Given the description of an element on the screen output the (x, y) to click on. 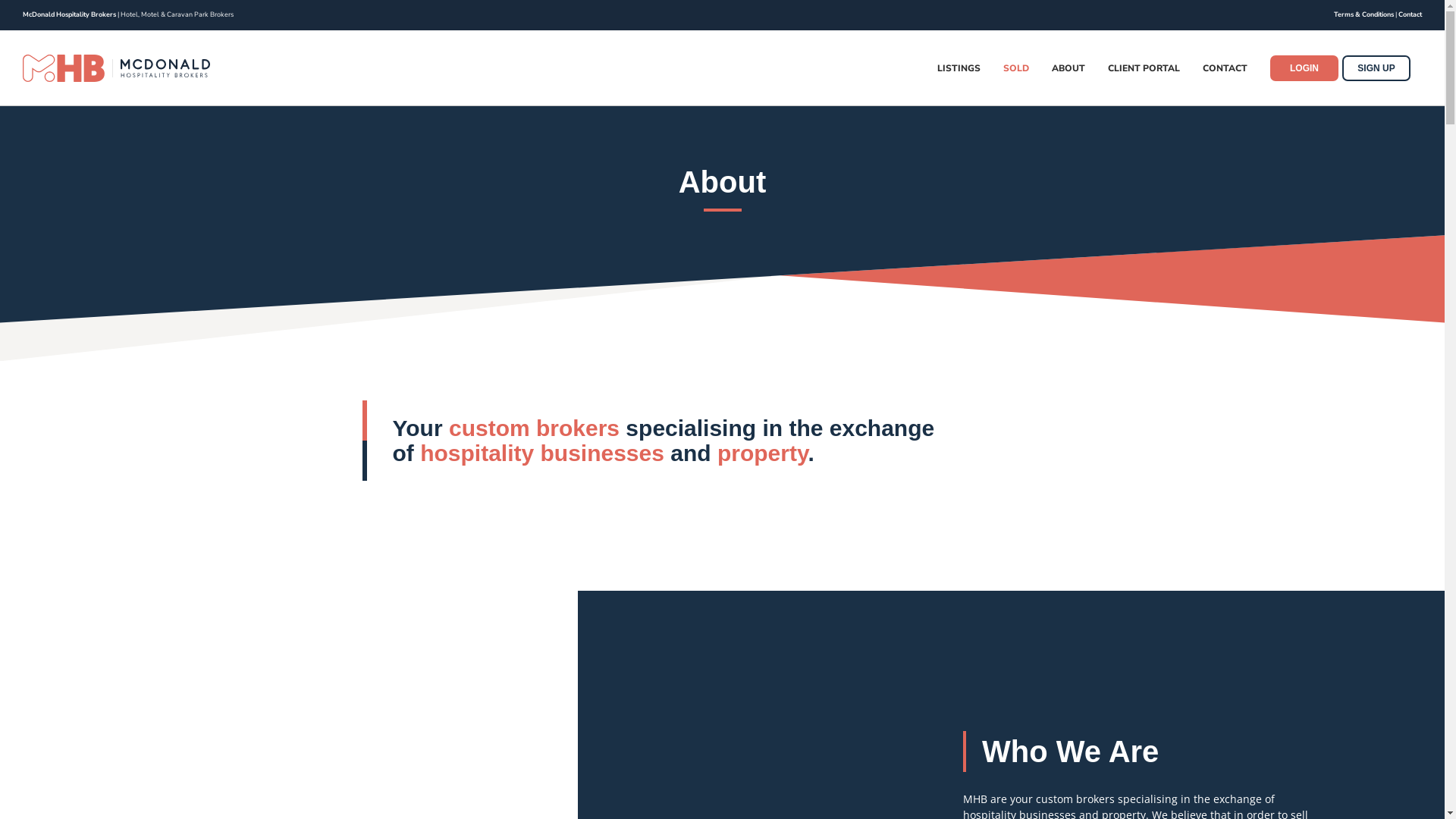
Terms & Conditions Element type: text (1363, 13)
LOGIN Element type: text (1306, 68)
CLIENT PORTAL Element type: text (1143, 68)
LISTINGS Element type: text (958, 68)
LOGIN Element type: text (1304, 68)
CONTACT Element type: text (1224, 68)
Contact Element type: text (1409, 13)
ABOUT Element type: text (1068, 68)
SOLD Element type: text (1015, 68)
SIGN UP Element type: text (1378, 68)
SIGN UP Element type: text (1376, 68)
